Given the description of an element on the screen output the (x, y) to click on. 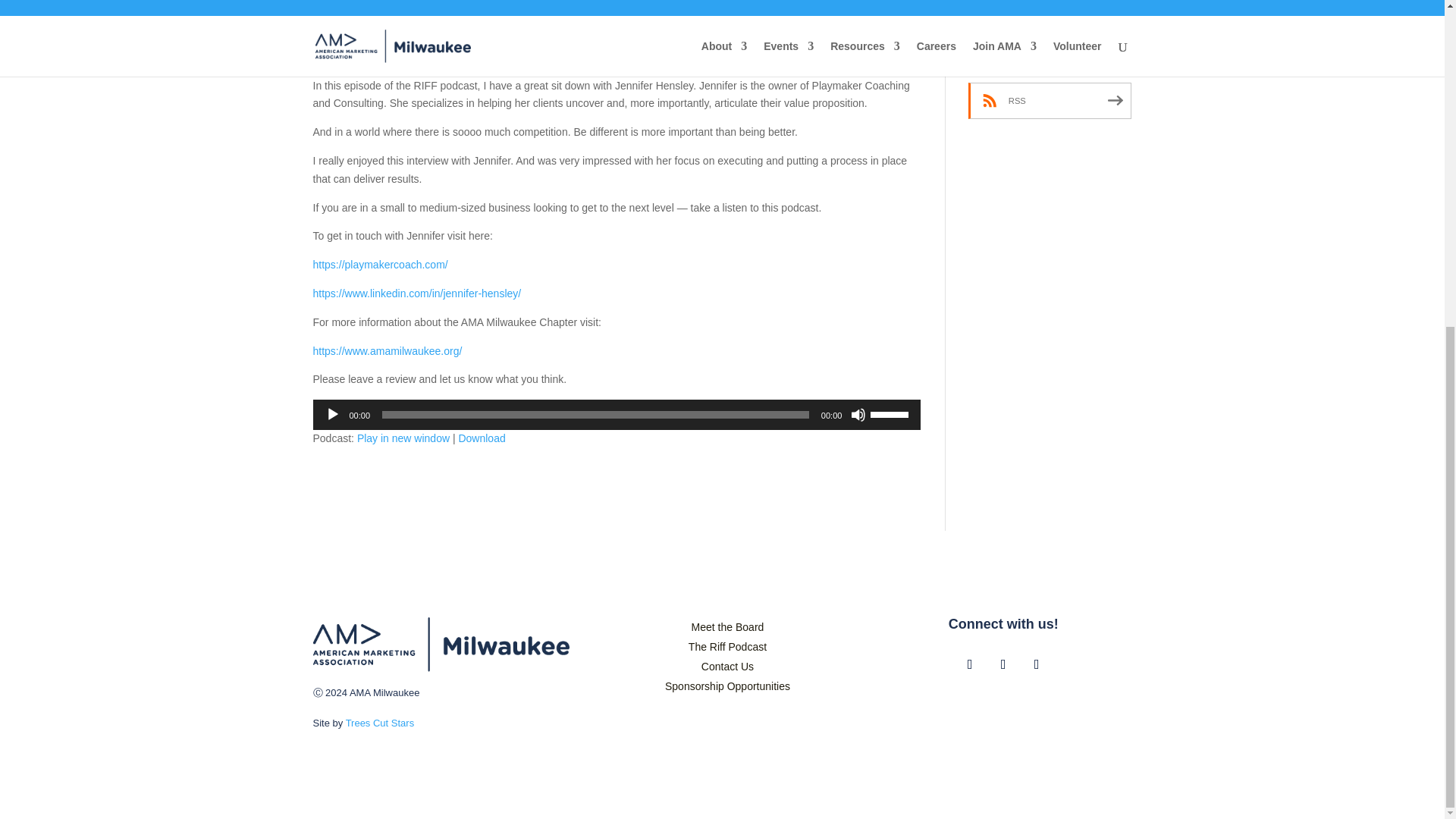
Subscribe on Android (1050, 13)
Download (481, 438)
Mute (858, 414)
Subscribe by Email (1050, 54)
Follow on X (1003, 664)
Subscribe via RSS (1050, 100)
Play in new window (402, 438)
Follow on Facebook (970, 664)
Follow on LinkedIn (1036, 664)
Play (331, 414)
AMA Milwaukee (441, 643)
